Given the description of an element on the screen output the (x, y) to click on. 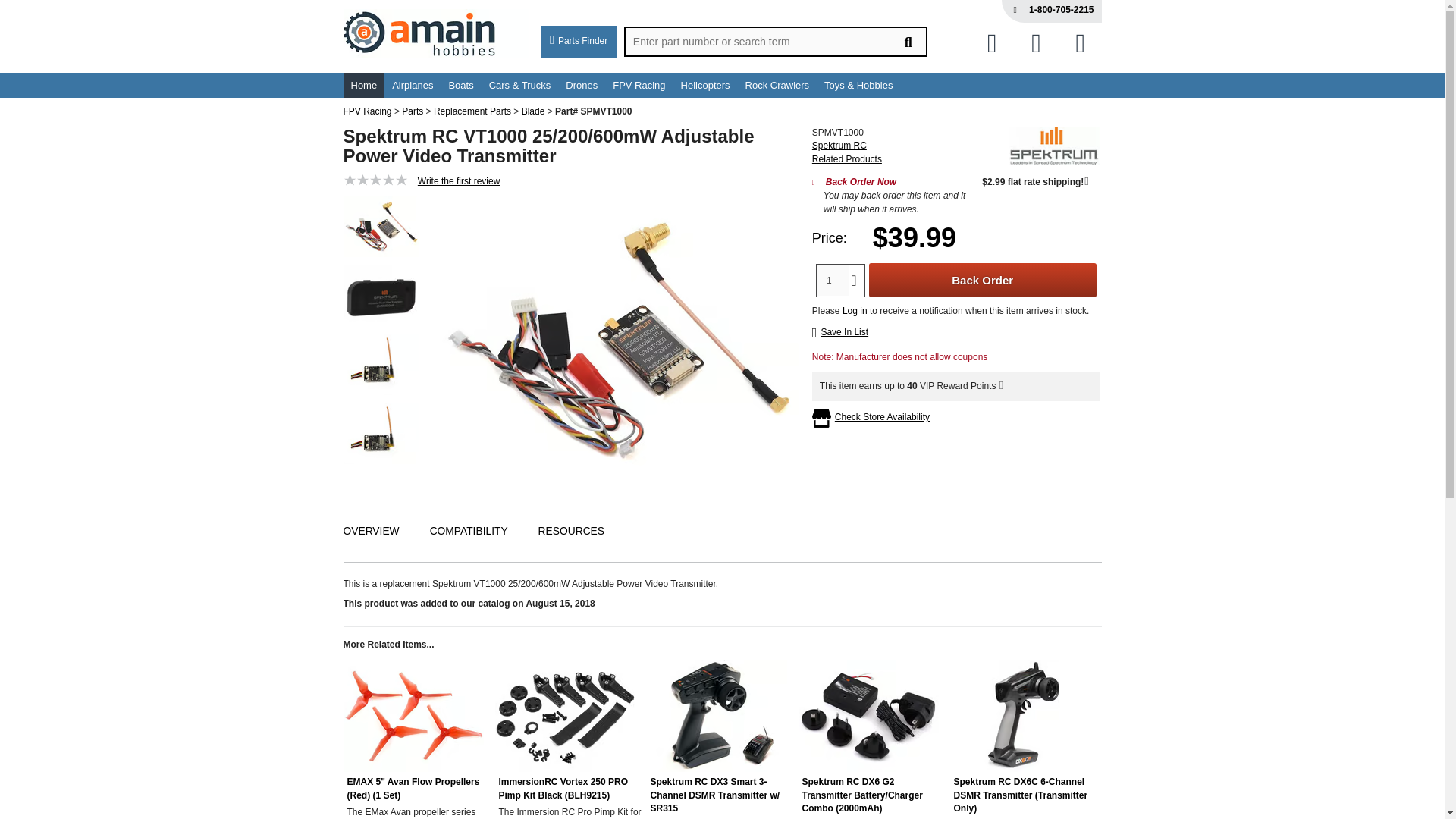
1-800-705-2215 (1061, 9)
Click to Check Store Availability (882, 418)
Home (363, 84)
1 (832, 279)
AMain Hobbies (435, 36)
My Account (1036, 43)
Parts Finder (578, 41)
